Given the description of an element on the screen output the (x, y) to click on. 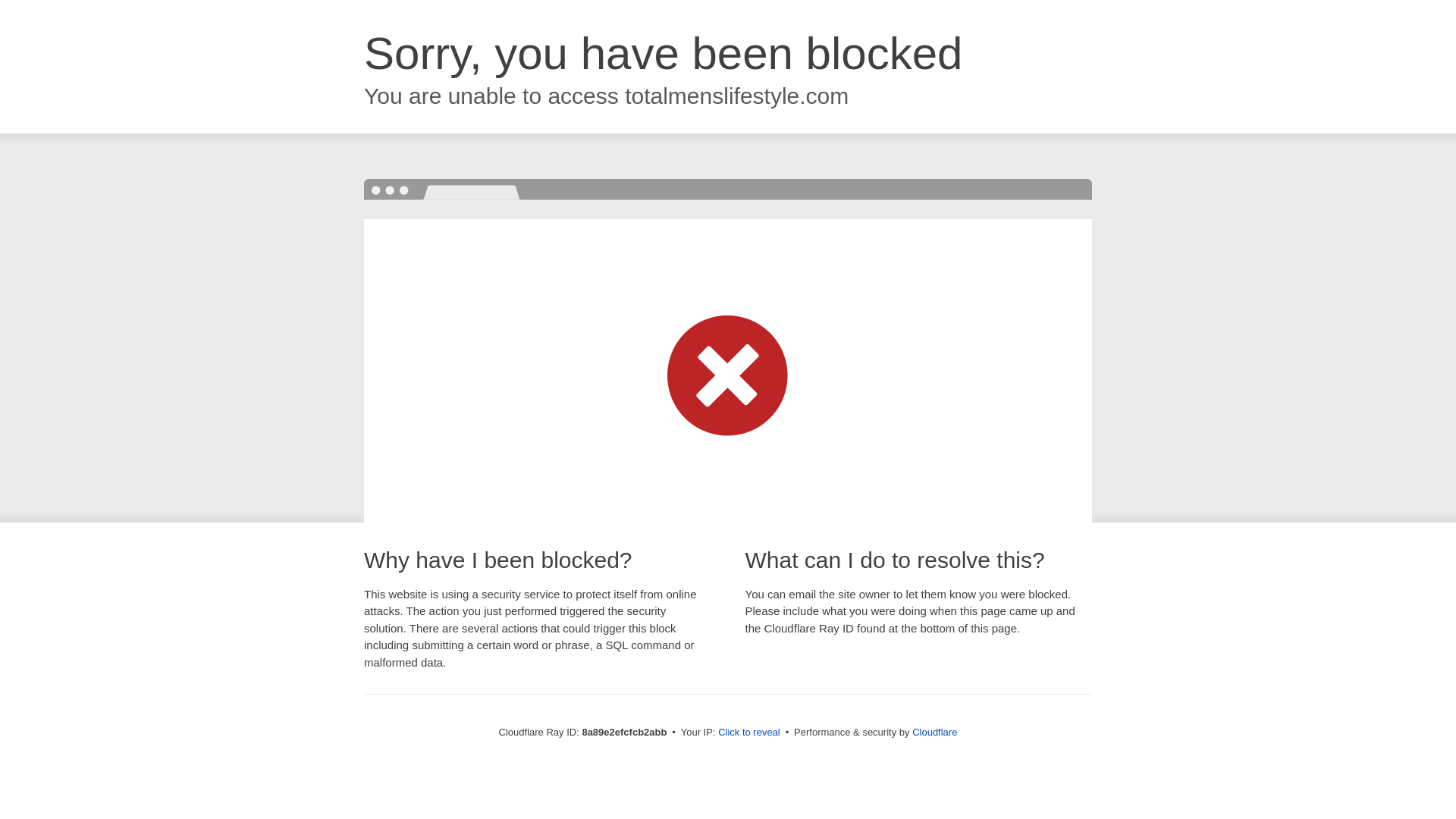
Cloudflare (934, 731)
Click to reveal (748, 732)
